Given the description of an element on the screen output the (x, y) to click on. 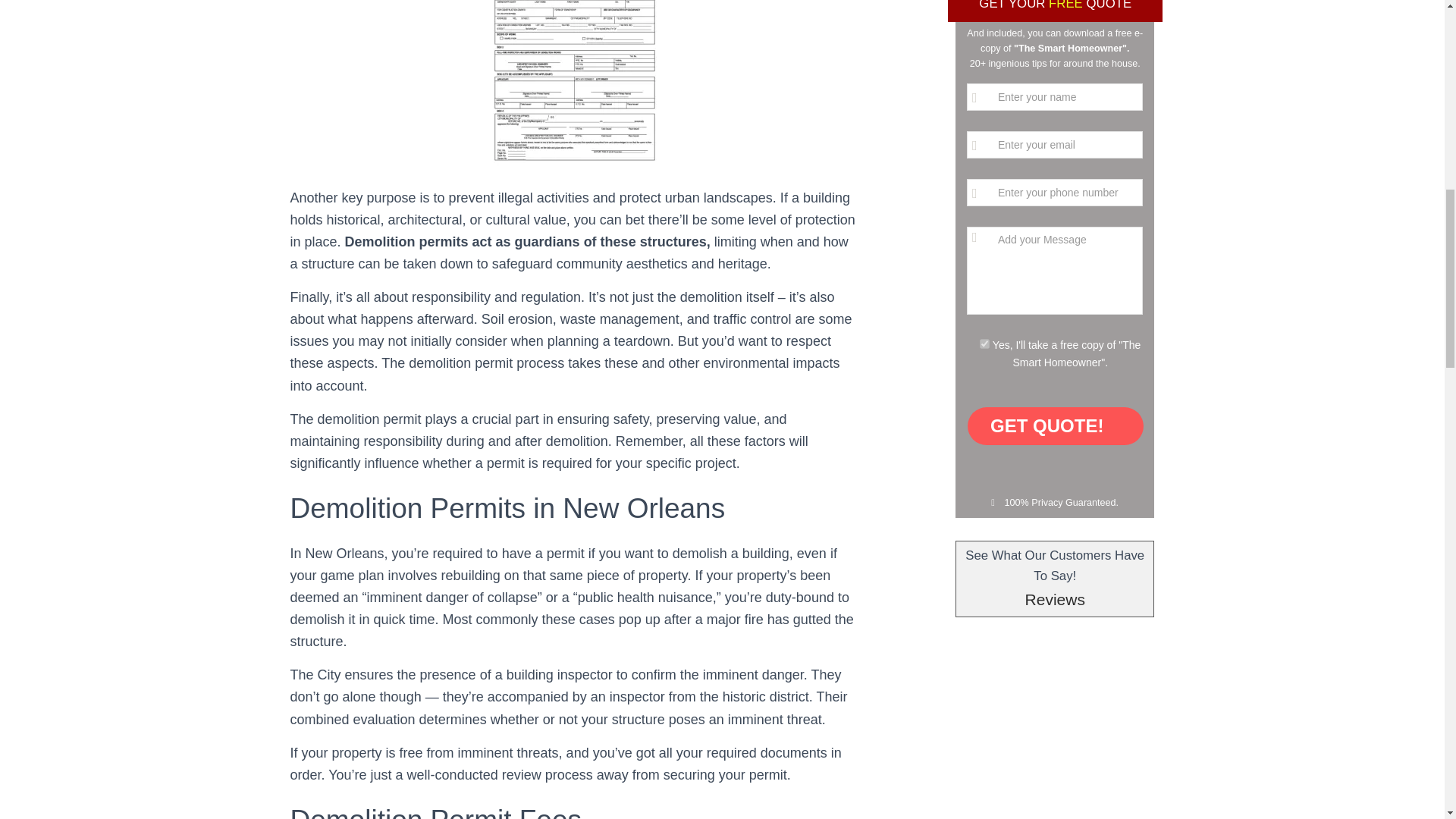
GET QUOTE! (1056, 426)
Yes, I'll take a free copy of "The Smart Homeowner". (984, 343)
GET QUOTE! (1056, 426)
Reviews (1054, 599)
